Given the description of an element on the screen output the (x, y) to click on. 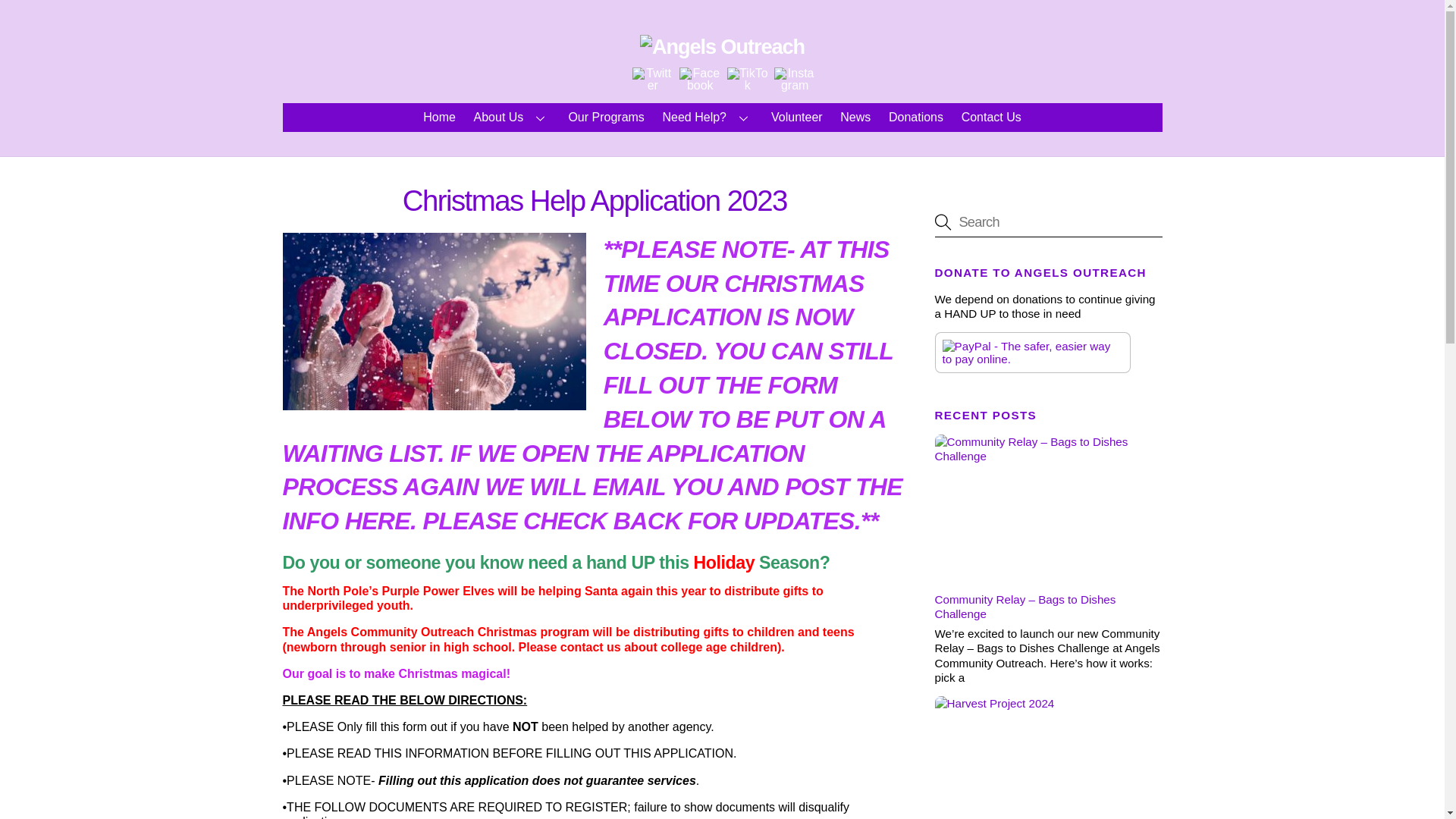
Home (439, 117)
Contact Us (990, 117)
Harvest Project 2024 (1047, 757)
Our Programs (606, 117)
Harvest Project 2024 (1047, 757)
Volunteer (795, 117)
About Us (511, 117)
Search (1047, 222)
Angels Outreach (722, 46)
Need Help? (707, 117)
News (854, 117)
Donations (915, 117)
